Given the description of an element on the screen output the (x, y) to click on. 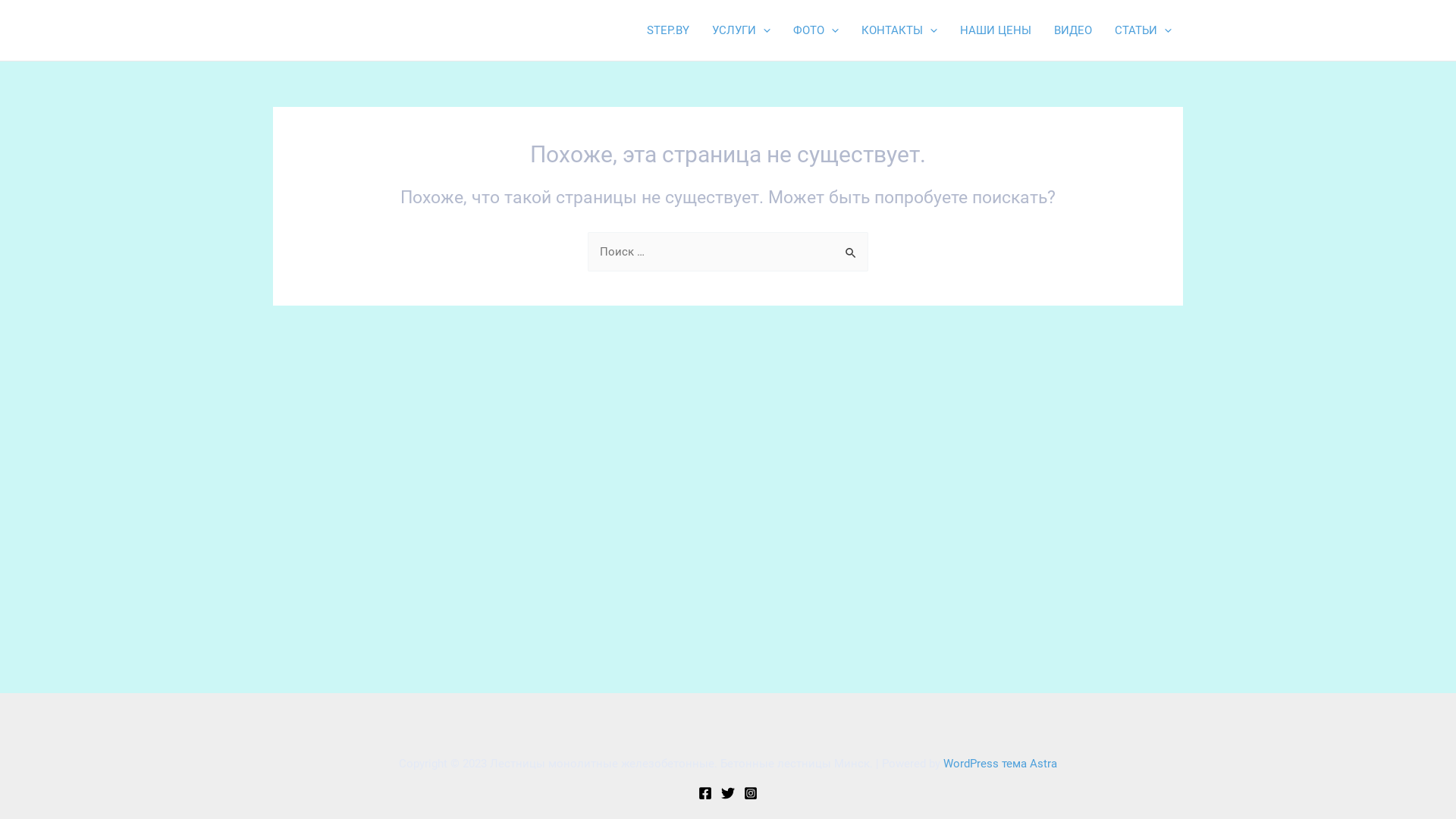
STEP.BY Element type: text (667, 30)
